Given the description of an element on the screen output the (x, y) to click on. 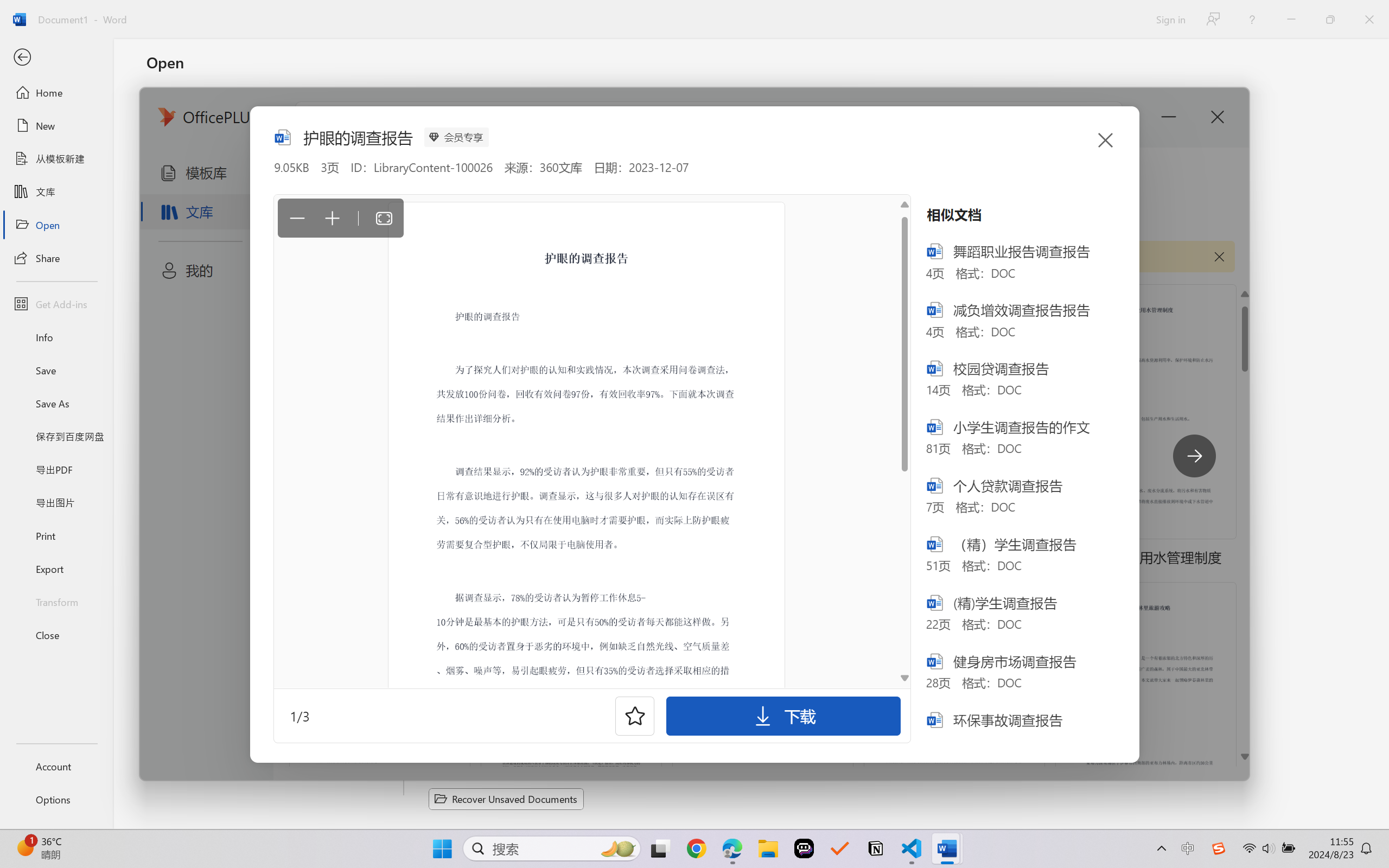
Options (56, 798)
Recover Unsaved Documents (506, 798)
Class: ___1gj6xy4 f9ur42n f3fi6us f1g9k77h f1x4n1mu (282, 135)
New (56, 125)
Transform (56, 601)
